Given the description of an element on the screen output the (x, y) to click on. 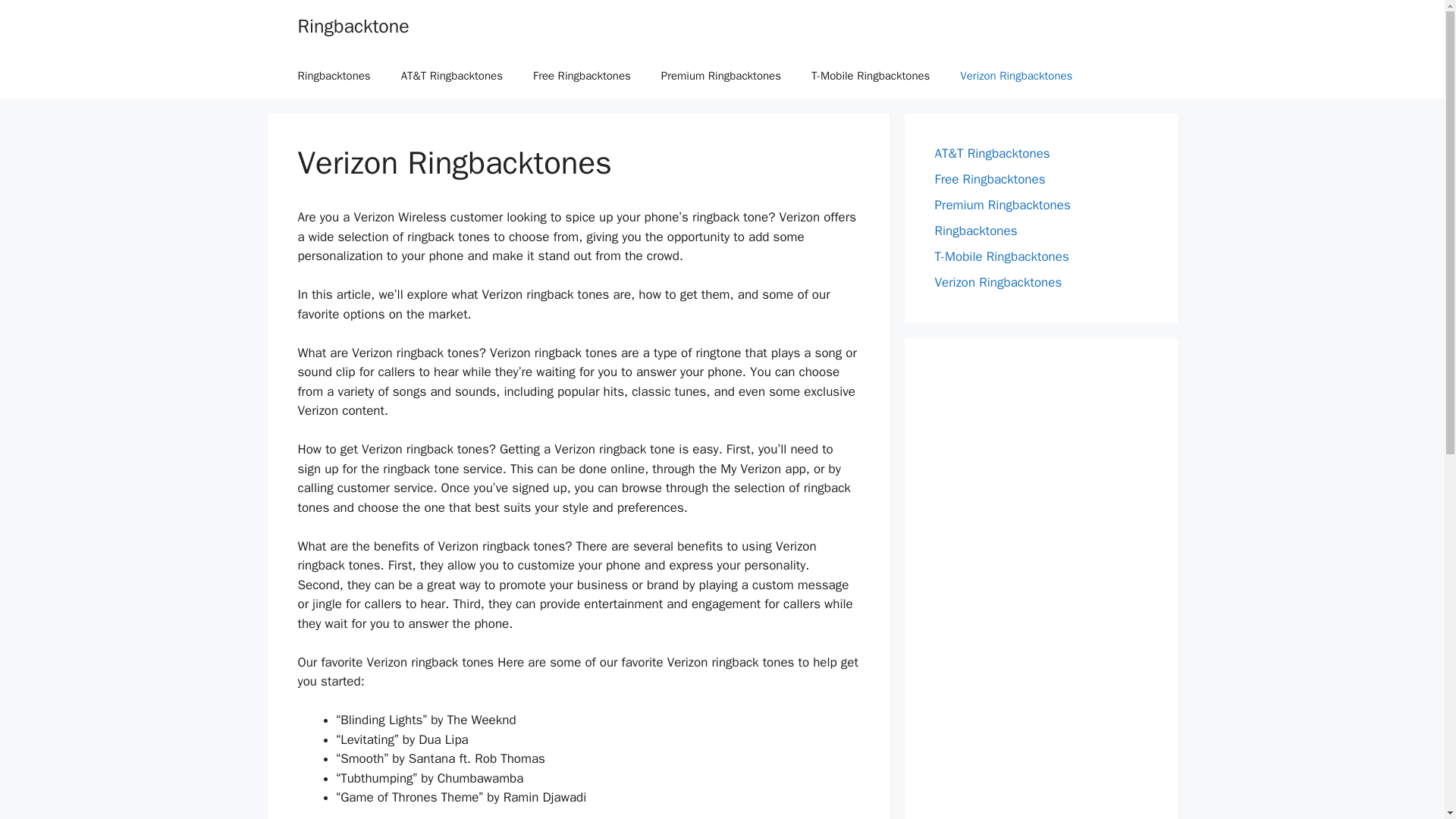
Free Ringbacktones (989, 179)
T-Mobile Ringbacktones (870, 75)
T-Mobile Ringbacktones (1001, 256)
Premium Ringbacktones (721, 75)
Verizon Ringbacktones (997, 282)
Free Ringbacktones (582, 75)
Ringbacktone (353, 25)
Ringbacktones (333, 75)
Verizon Ringbacktones (1015, 75)
Premium Ringbacktones (1002, 204)
Ringbacktones (975, 230)
